Given the description of an element on the screen output the (x, y) to click on. 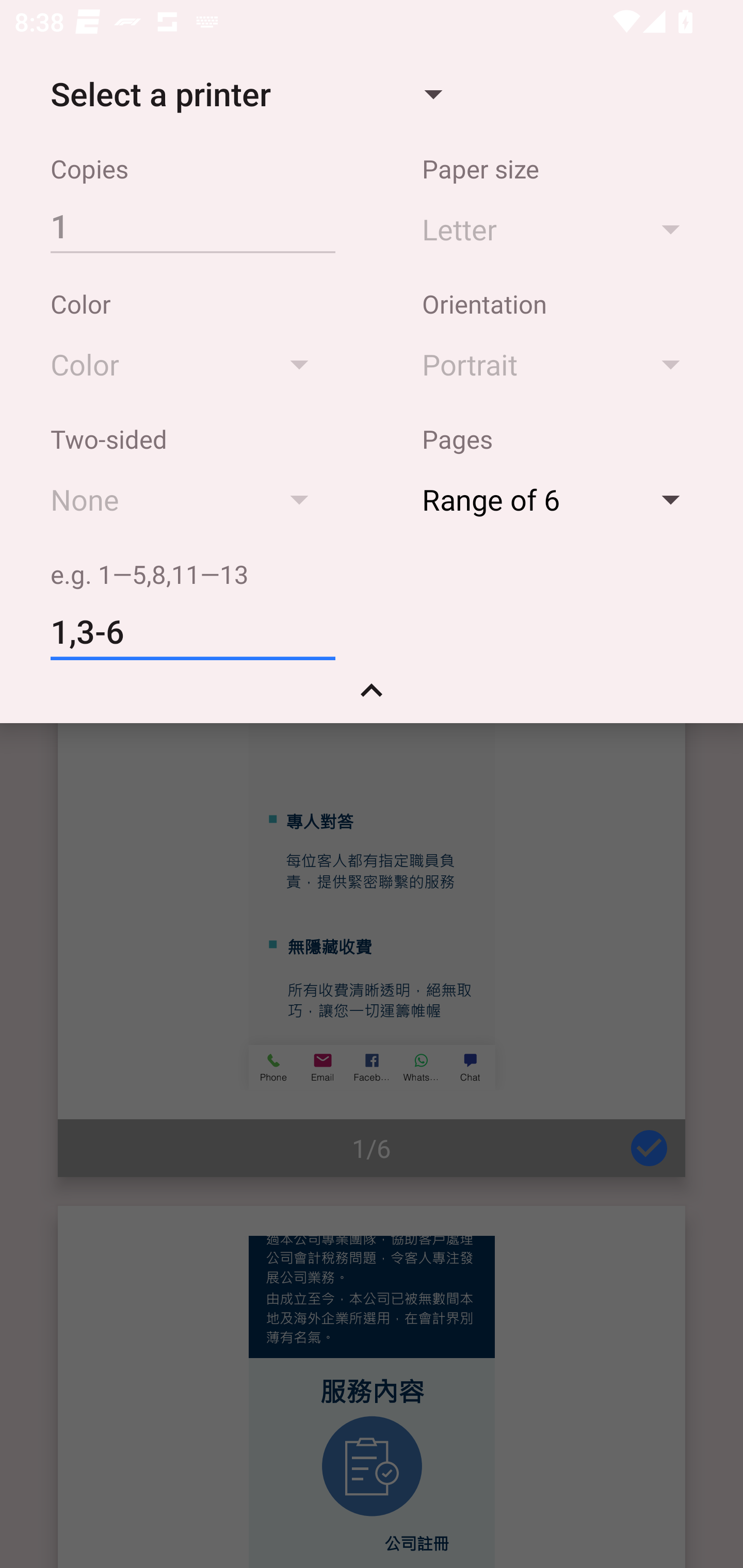
Select a printer (245, 93)
1 (192, 225)
Letter (560, 228)
Color (189, 364)
Portrait (560, 364)
None (189, 499)
Range of 6 (560, 499)
1,3-6 (192, 631)
Collapse handle (371, 697)
